Given the description of an element on the screen output the (x, y) to click on. 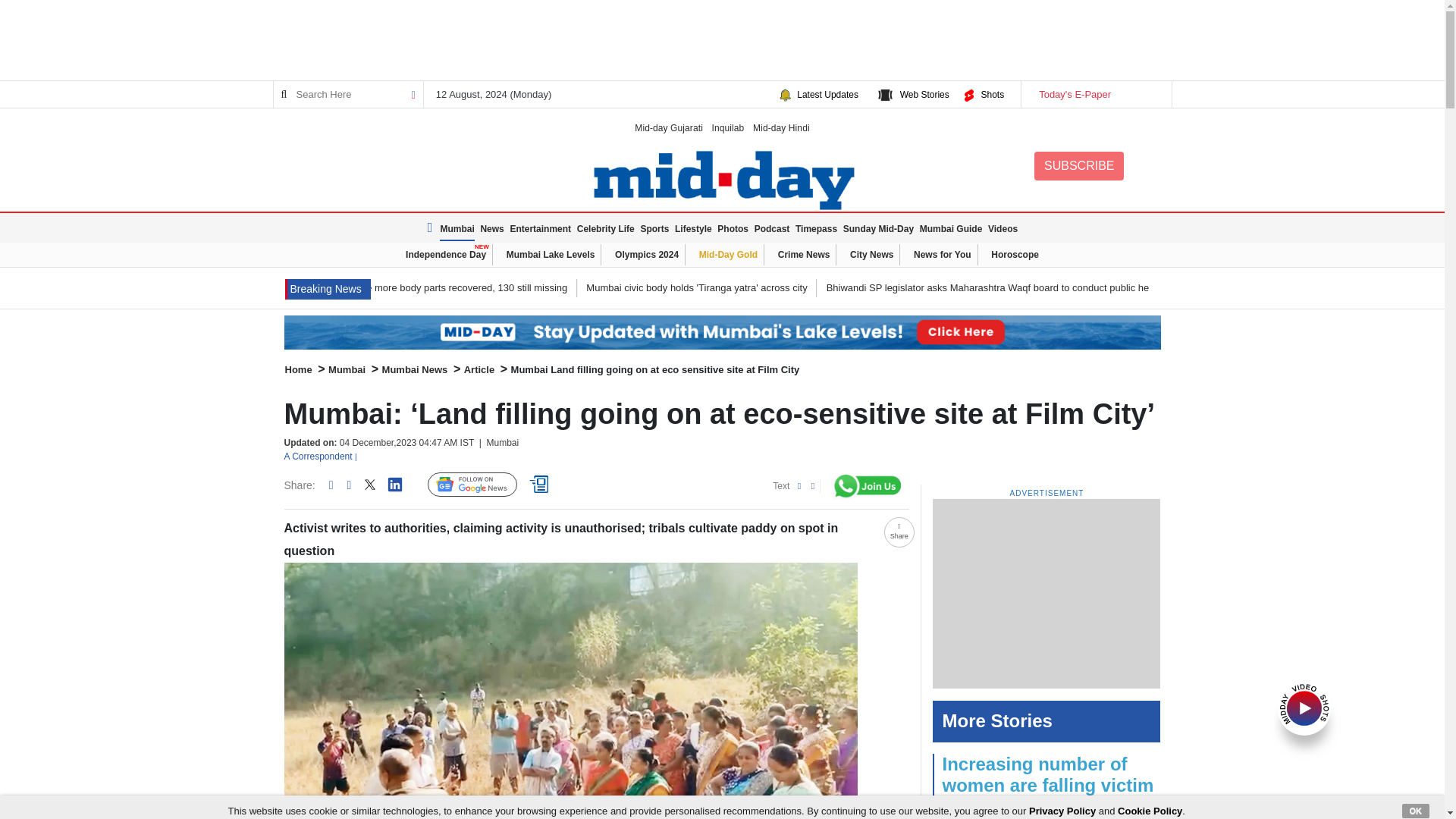
Shots (991, 94)
Latest News (328, 289)
Mid-day Gujarati (668, 127)
Midday Shot Videos (1304, 706)
Inquilab (728, 127)
Web Stories (924, 94)
Lake Levels (721, 332)
Quick Reads (541, 485)
Latest News (432, 227)
Mid-day Hindi (780, 127)
